Given the description of an element on the screen output the (x, y) to click on. 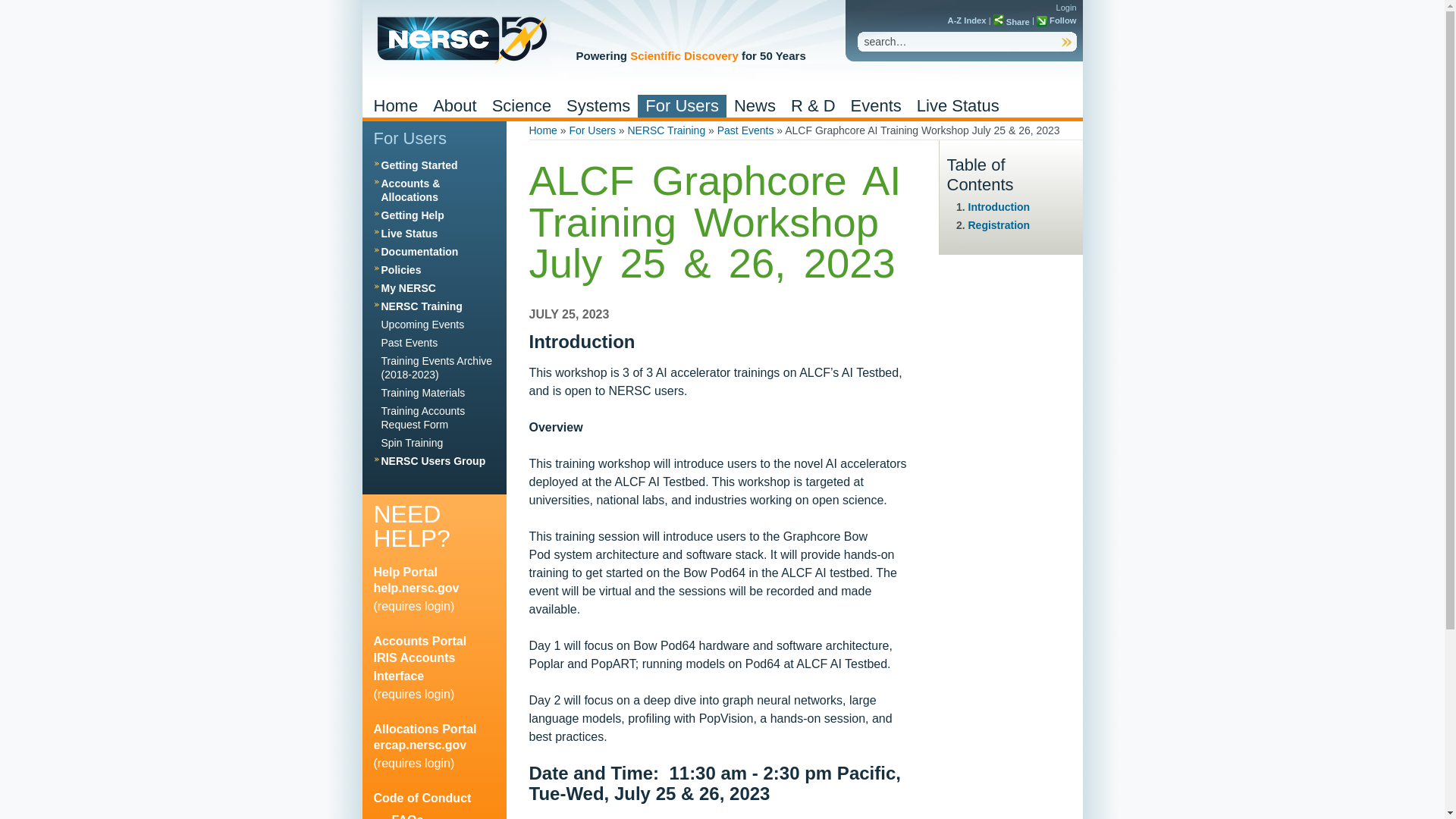
Go (1066, 41)
Science (521, 106)
Allocations Portal (418, 744)
A-Z Index (967, 20)
Follow (1056, 20)
Go (1066, 41)
IRIS Account Support (413, 666)
Share this page. (1010, 21)
Visit the IRIS Accounts Interface. (418, 640)
Visit the NERSC allocations portal (424, 728)
